Given the description of an element on the screen output the (x, y) to click on. 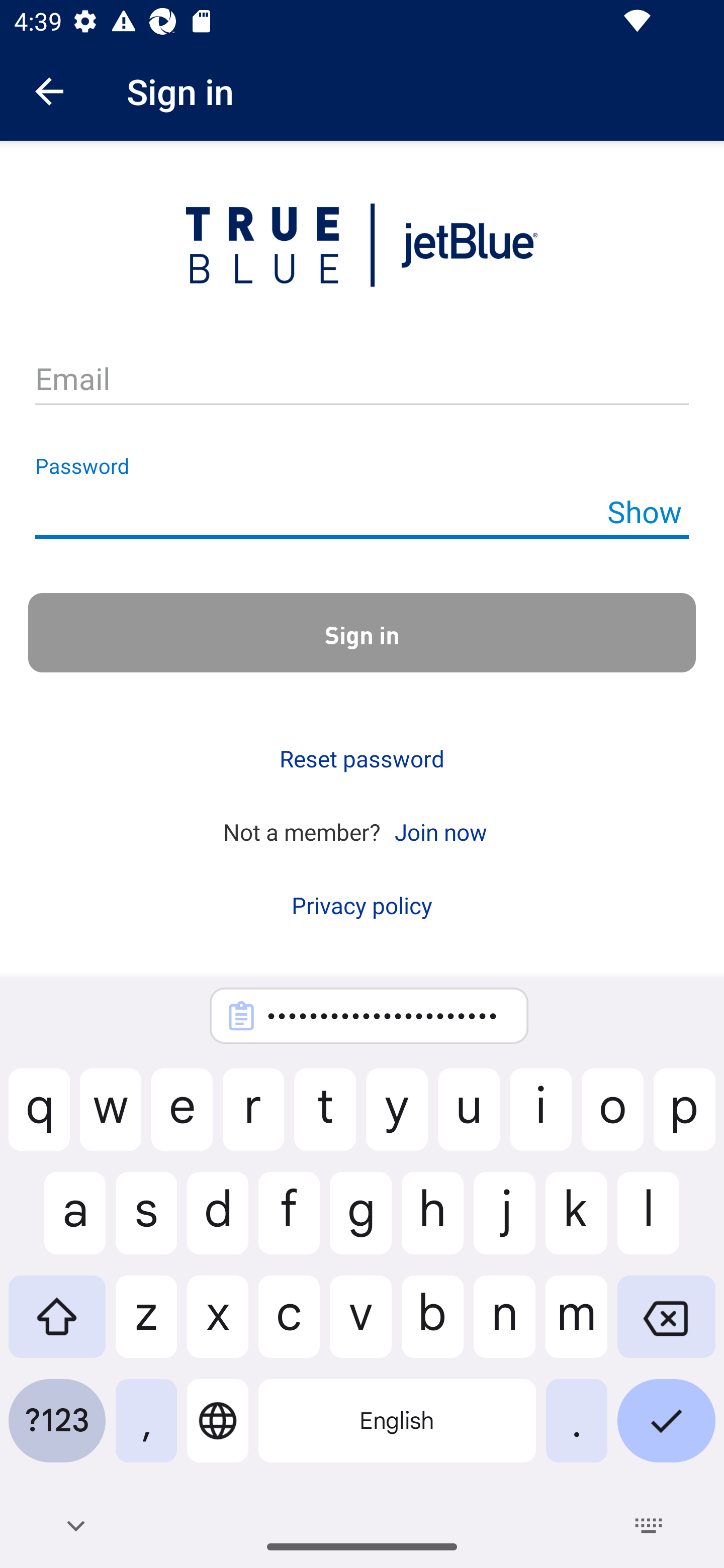
Navigate up (49, 91)
Email (361, 379)
Password (361, 511)
Show (643, 510)
Sign in (361, 632)
Reset password (361, 758)
Join now (440, 831)
Privacy policy (361, 904)
